Given the description of an element on the screen output the (x, y) to click on. 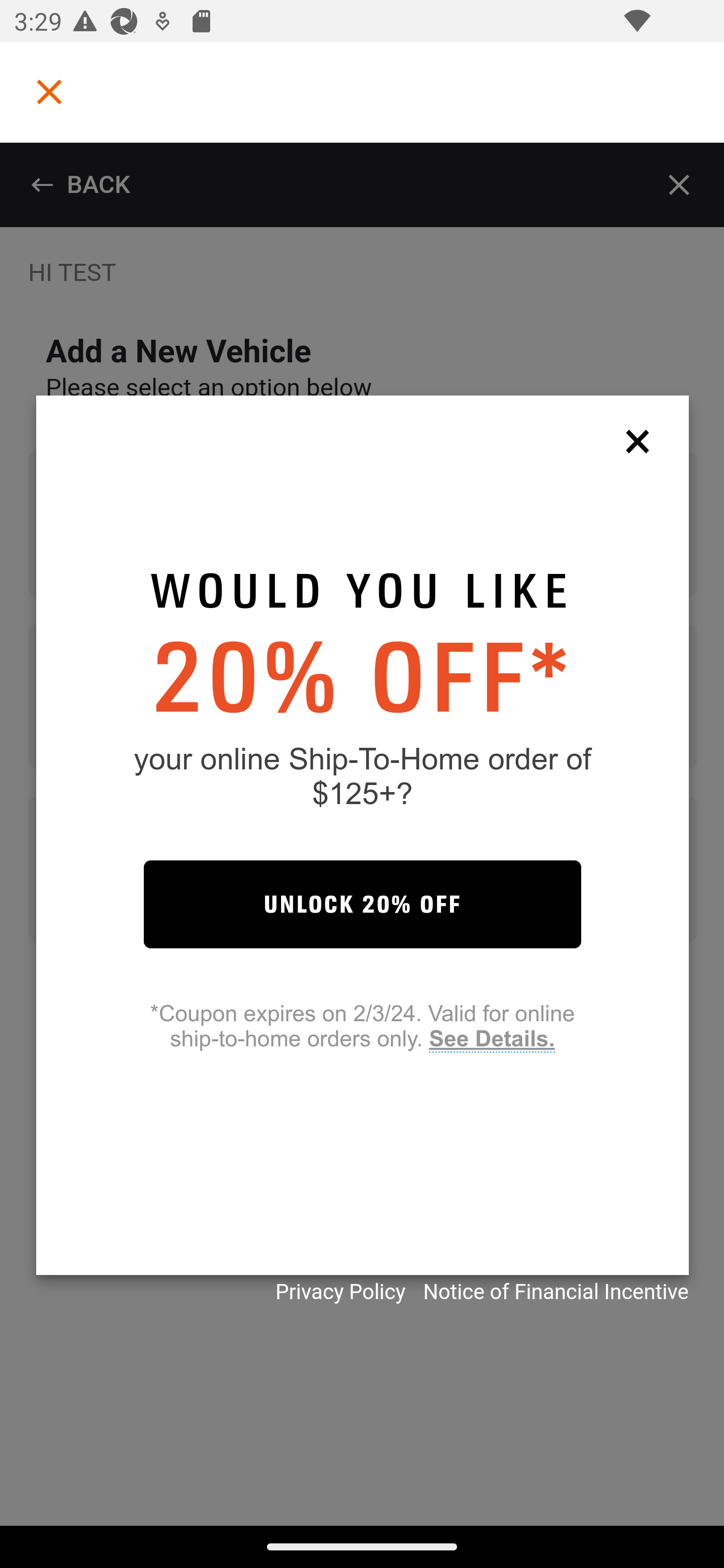
close jebbit questionnaire (641, 440)
UNLOCK 20% OFF  (362, 903)
See Details. (491, 1039)
Privacy Policy (340, 1291)
Notice of Financial Incentive (555, 1291)
